Given the description of an element on the screen output the (x, y) to click on. 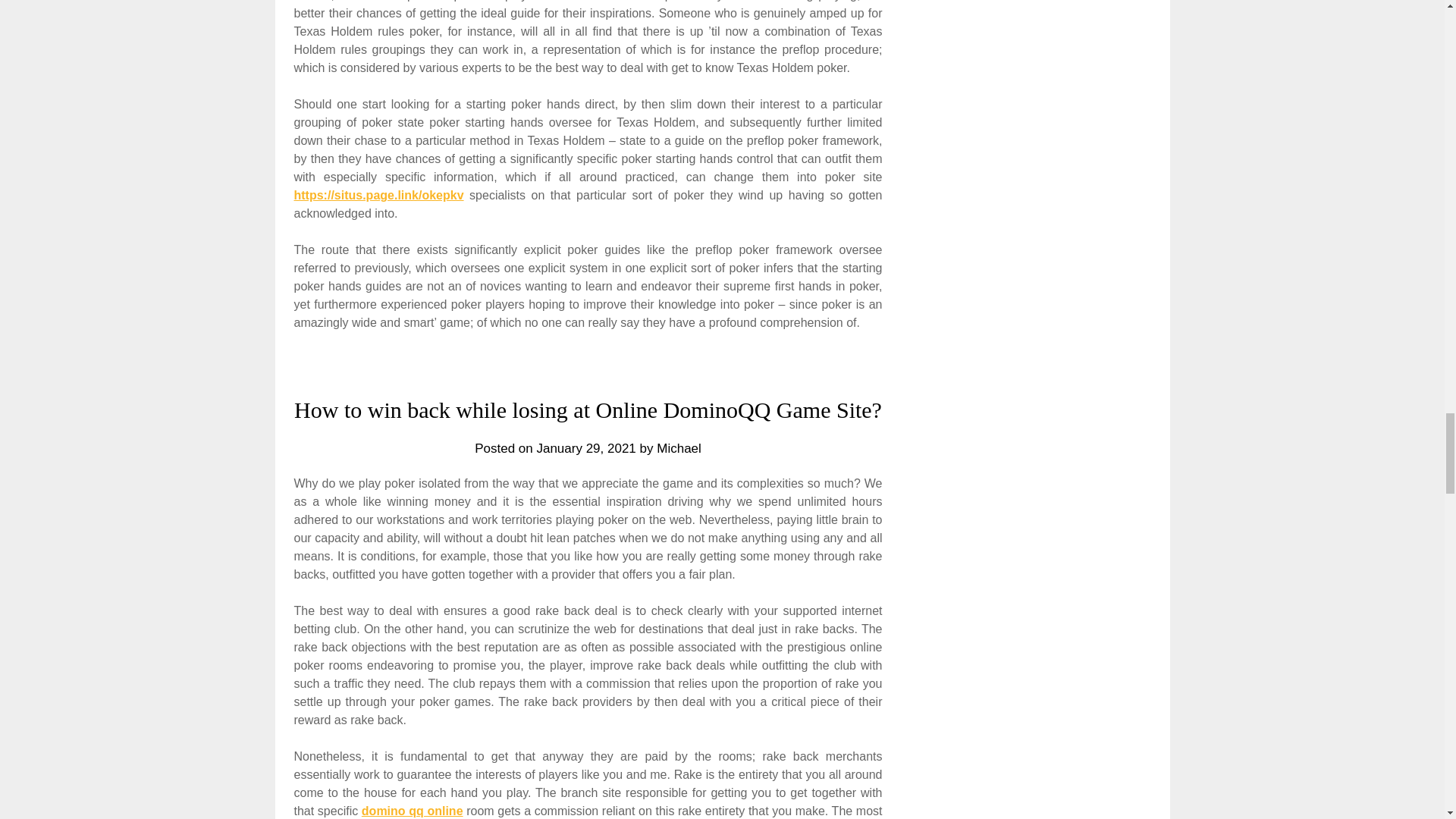
How to win back while losing at Online DominoQQ Game Site? (588, 409)
Michael (678, 448)
January 29, 2021 (584, 448)
domino qq online (412, 810)
